Given the description of an element on the screen output the (x, y) to click on. 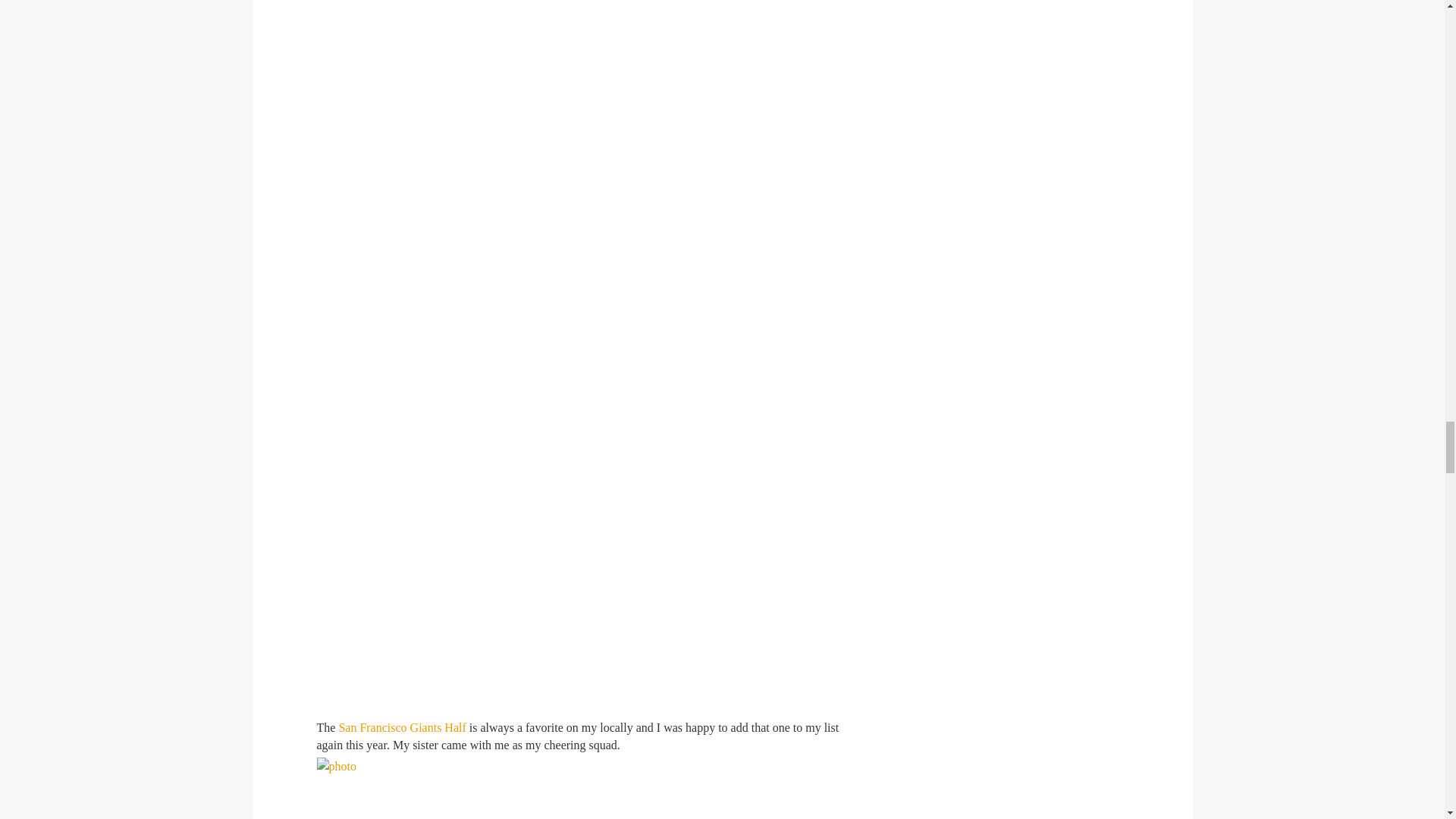
San Francisco Giants Half (401, 727)
